Given the description of an element on the screen output the (x, y) to click on. 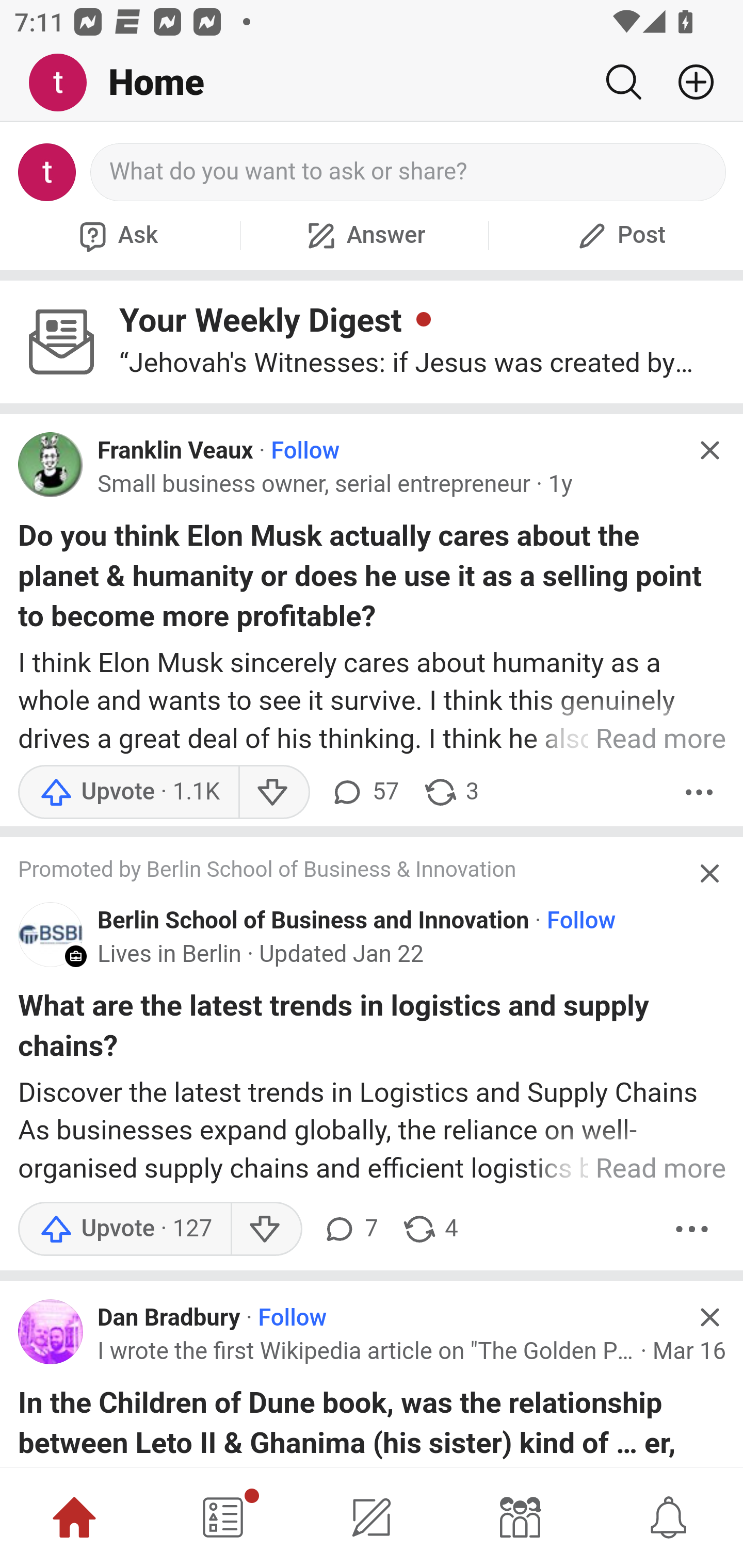
Me Home Search Add (371, 82)
Me (64, 83)
Search (623, 82)
Add (688, 82)
